Given the description of an element on the screen output the (x, y) to click on. 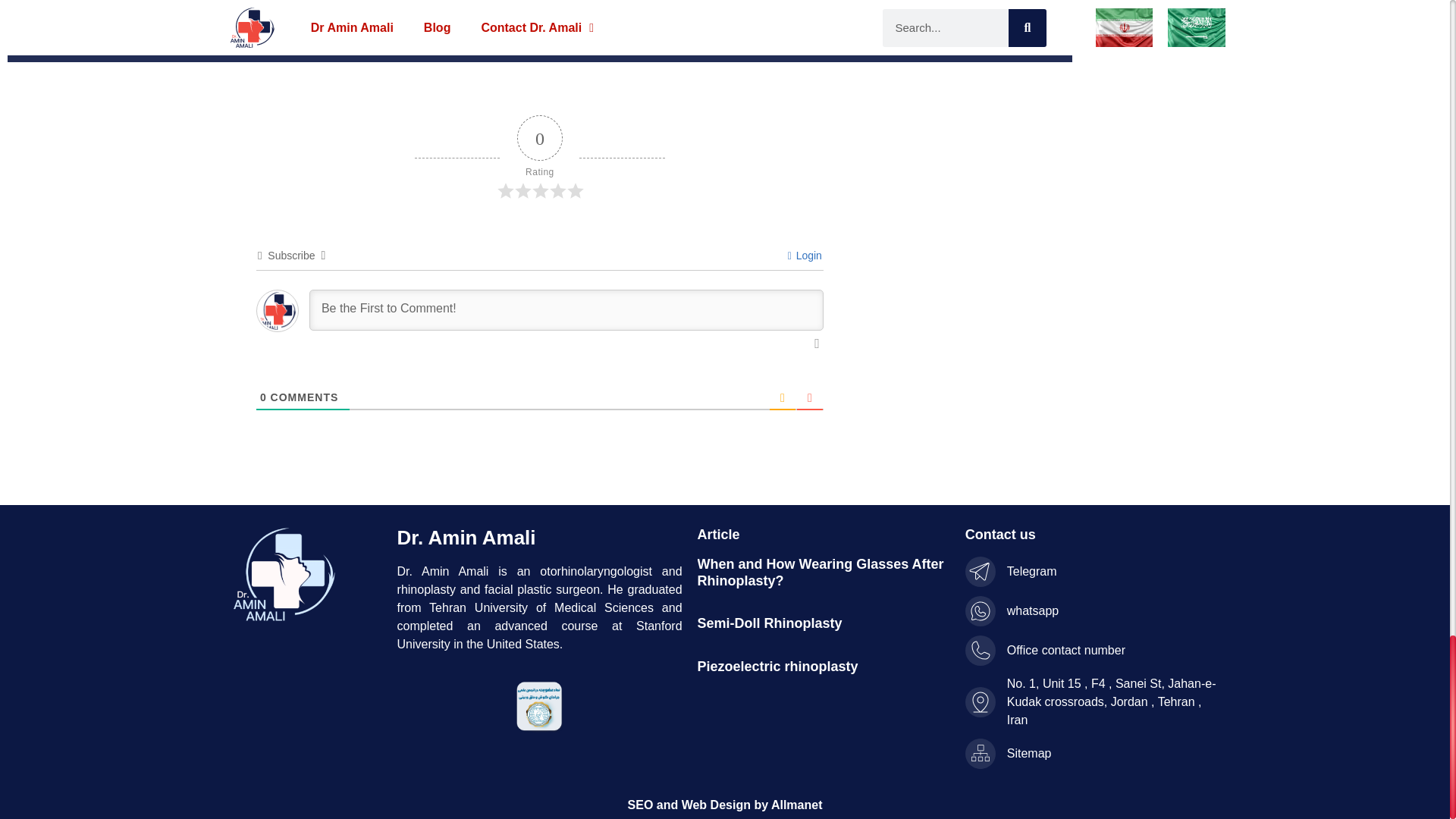
Login (804, 255)
